Given the description of an element on the screen output the (x, y) to click on. 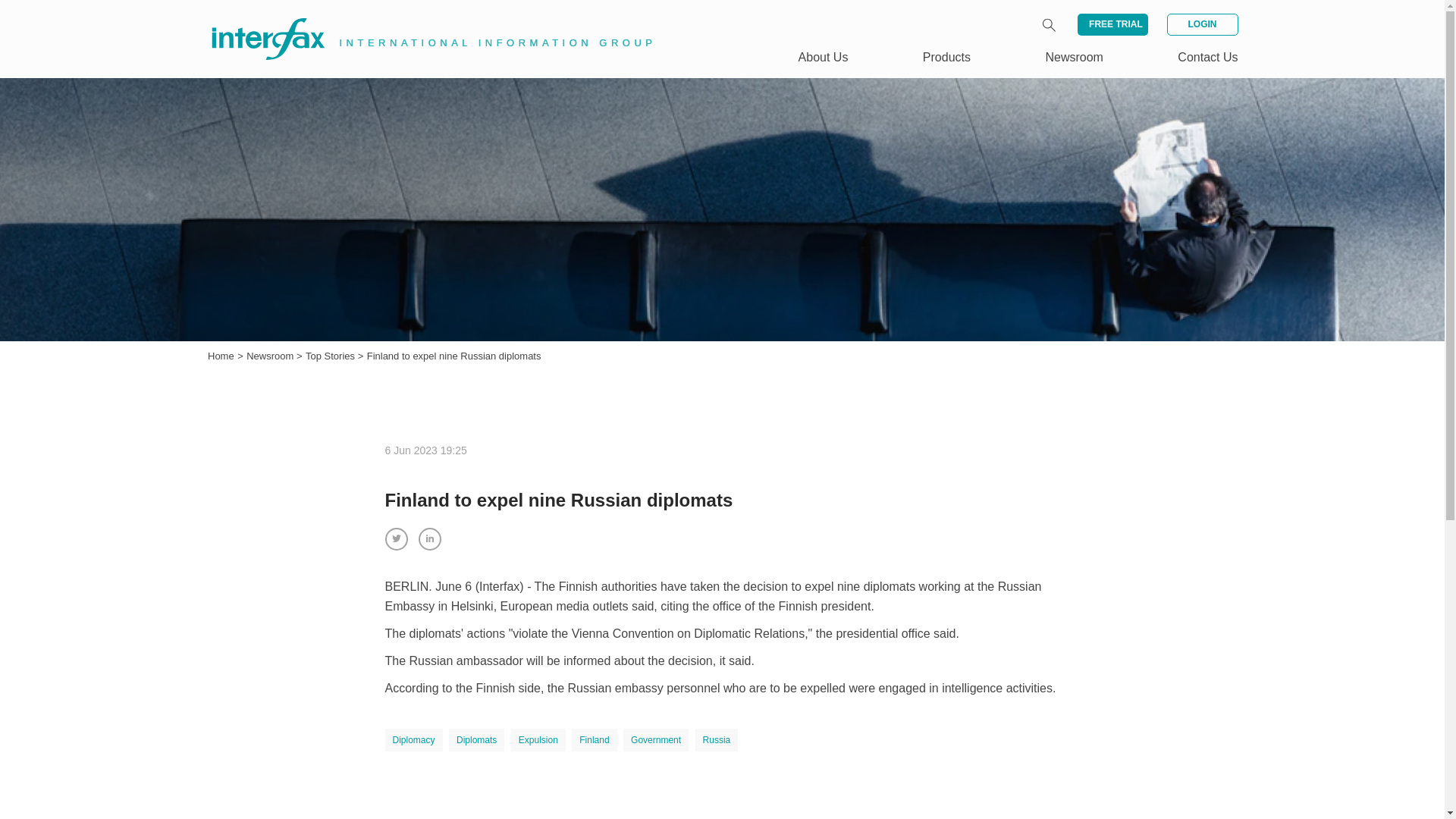
Finland (593, 739)
Newsroom (271, 355)
Expulsion (538, 739)
Contact Us (1207, 56)
Diplomats (475, 739)
INTERNATIONAL INFORMATION GROUP (421, 20)
FREE TRIAL (1112, 24)
Newsroom (271, 355)
Diplomacy (413, 739)
Top Stories (331, 355)
